Given the description of an element on the screen output the (x, y) to click on. 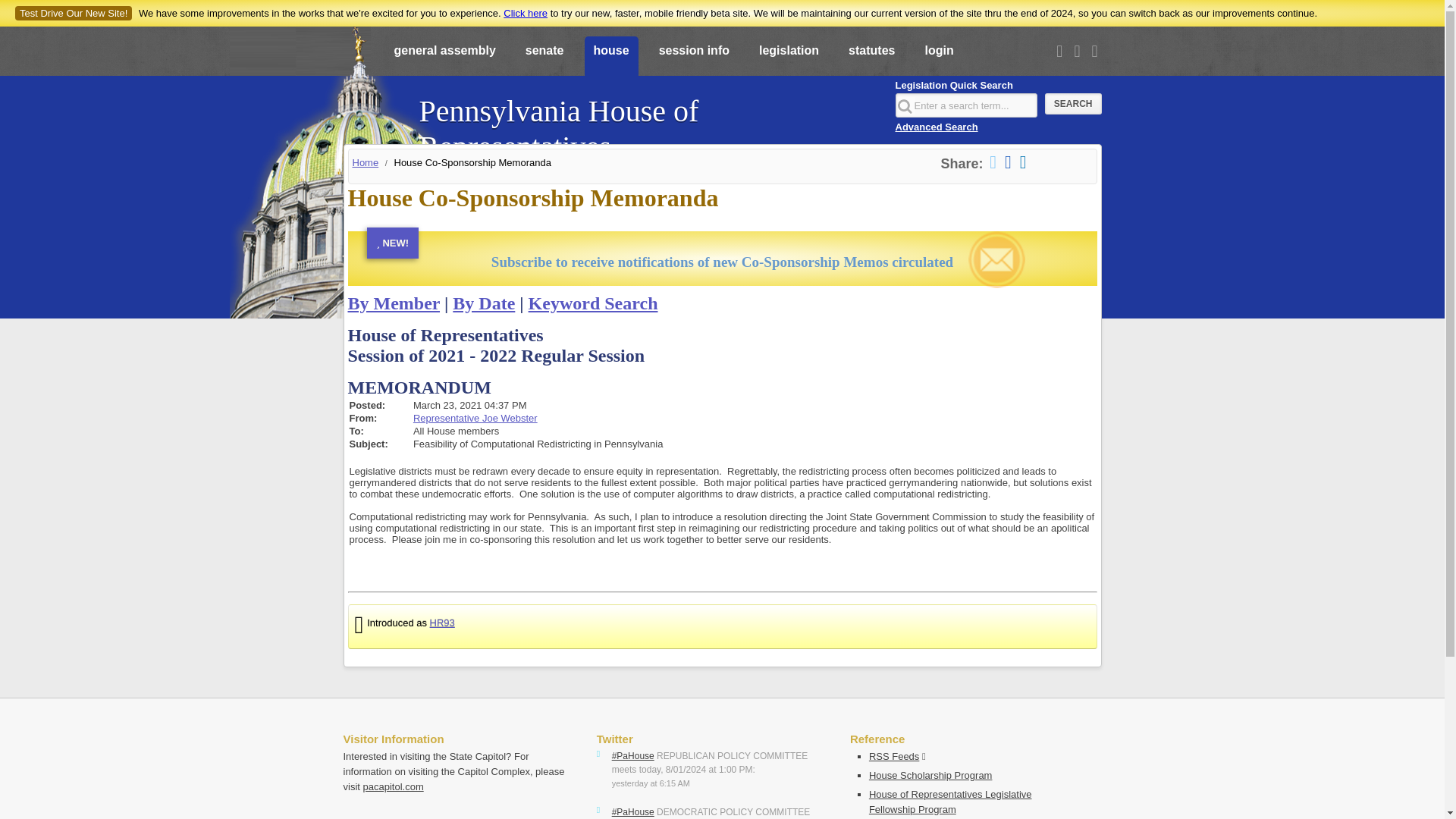
Click here (525, 12)
session info (693, 57)
general assembly (445, 57)
Pennsylvania House of Representatives (647, 120)
statutes (872, 57)
login (938, 57)
senate (544, 57)
Search (1073, 103)
Search (1073, 103)
Advanced Search (935, 126)
house (610, 57)
legislation (788, 57)
